Given the description of an element on the screen output the (x, y) to click on. 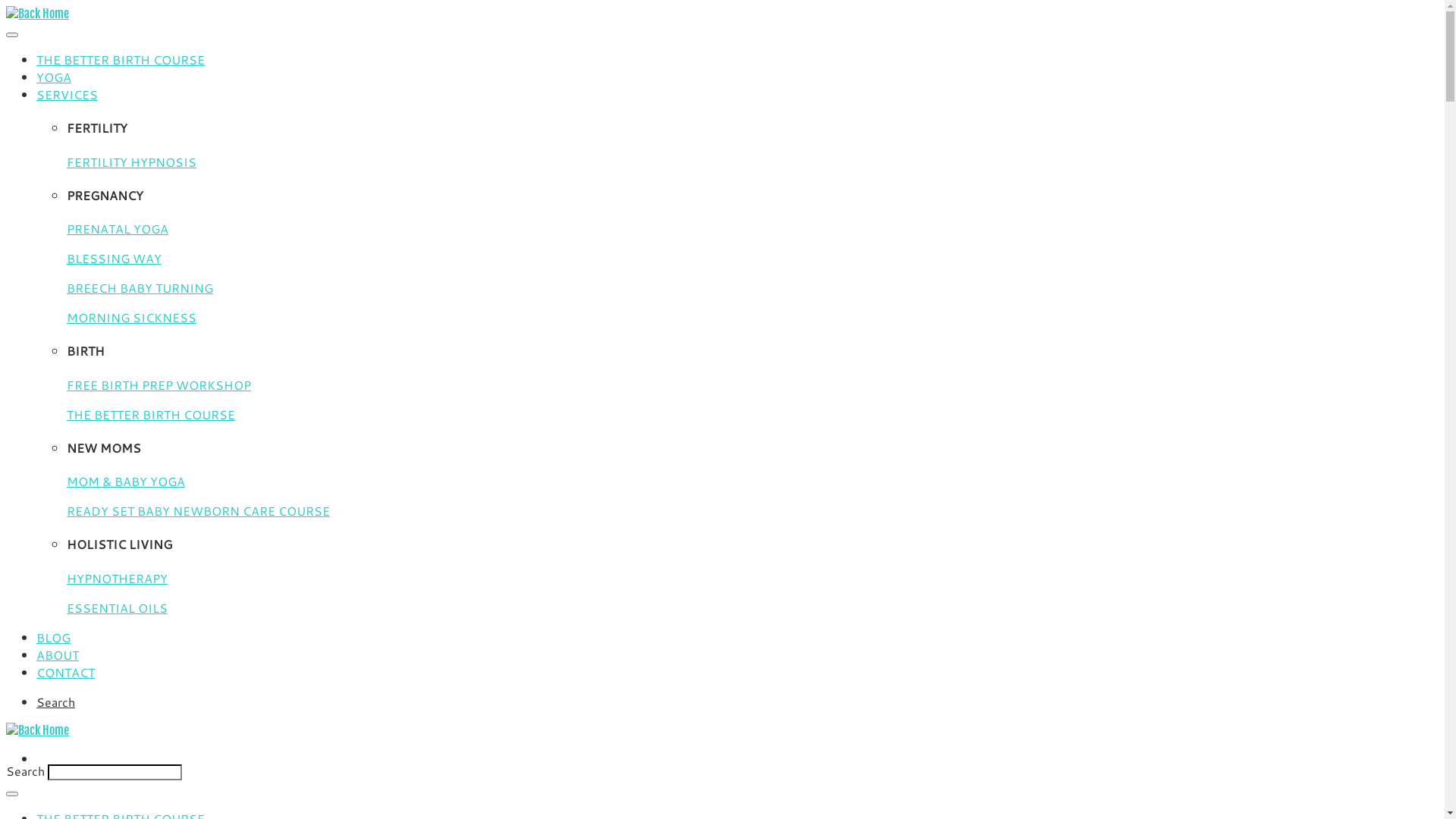
ESSENTIAL OILS Element type: text (116, 607)
Birth Bliss | Birth Bliss Element type: hover (37, 729)
FERTILITY HYPNOSIS Element type: text (131, 161)
Search Element type: text (55, 701)
FREE BIRTH PREP WORKSHOP Element type: text (158, 384)
THE BETTER BIRTH COURSE Element type: text (120, 59)
BLESSING WAY Element type: text (113, 257)
Birth Bliss | Birth Bliss Element type: hover (37, 13)
BREECH BABY TURNING Element type: text (139, 287)
THE BETTER BIRTH COURSE Element type: text (150, 414)
PRENATAL YOGA Element type: text (117, 228)
HYPNOTHERAPY Element type: text (116, 577)
BLOG Element type: text (53, 637)
READY SET BABY NEWBORN CARE COURSE Element type: text (197, 510)
CONTACT Element type: text (65, 671)
SERVICES Element type: text (66, 94)
MOM & BABY YOGA Element type: text (125, 480)
ABOUT Element type: text (57, 654)
YOGA Element type: text (53, 76)
MORNING SICKNESS Element type: text (131, 317)
